Given the description of an element on the screen output the (x, y) to click on. 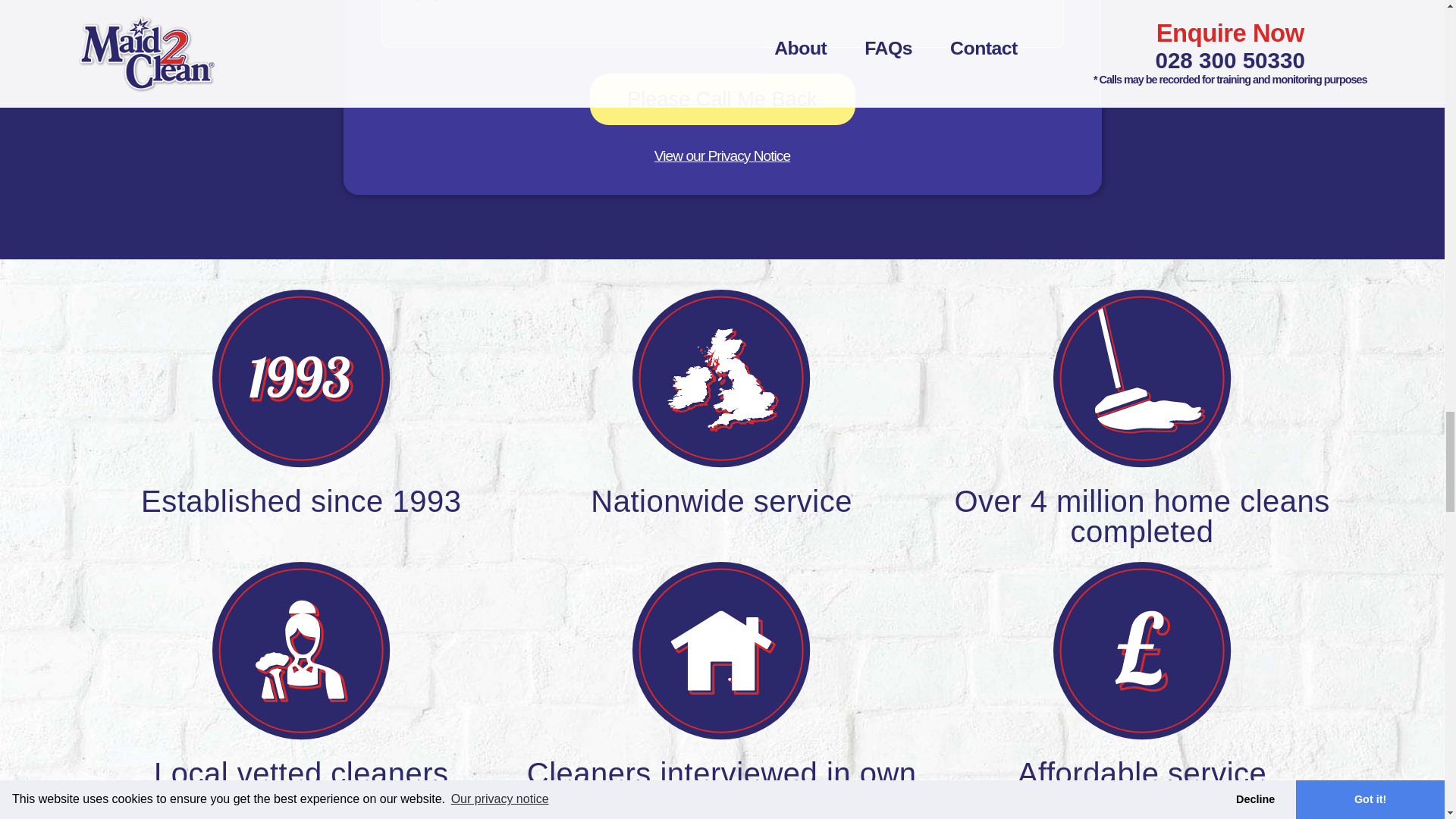
View our Privacy Notice (721, 155)
Please Call Me Back (722, 99)
Please Call Me Back (722, 99)
